Given the description of an element on the screen output the (x, y) to click on. 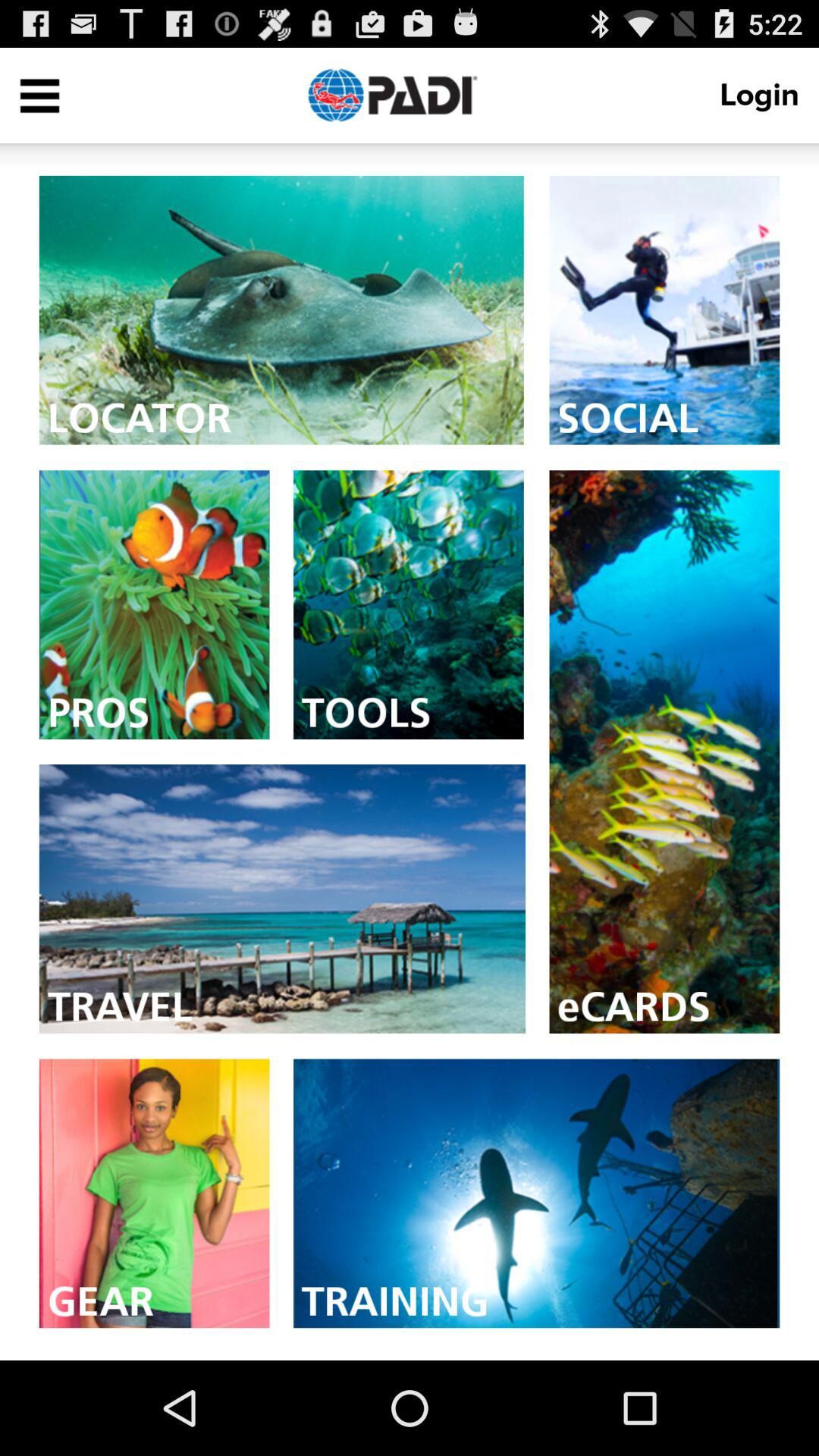
scroll until login item (764, 95)
